Given the description of an element on the screen output the (x, y) to click on. 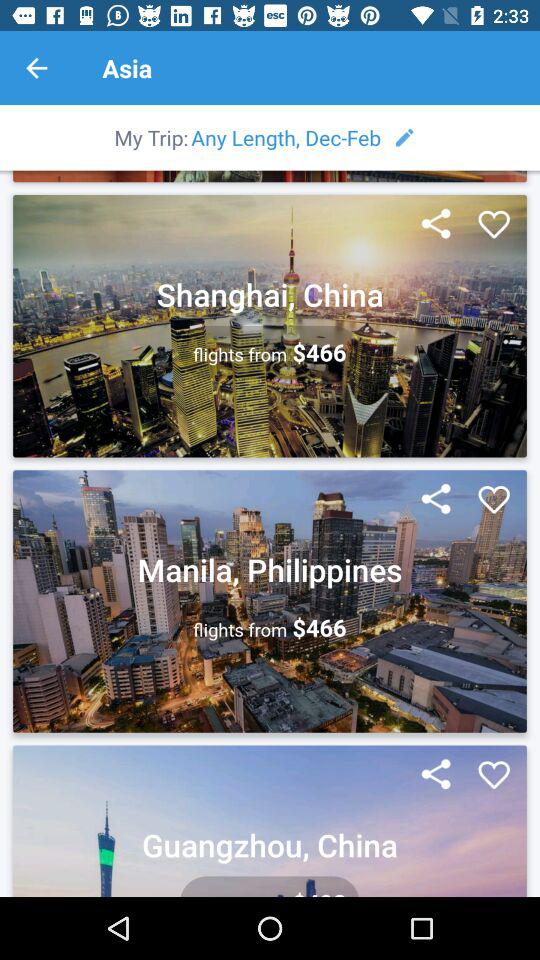
like the place (494, 225)
